Given the description of an element on the screen output the (x, y) to click on. 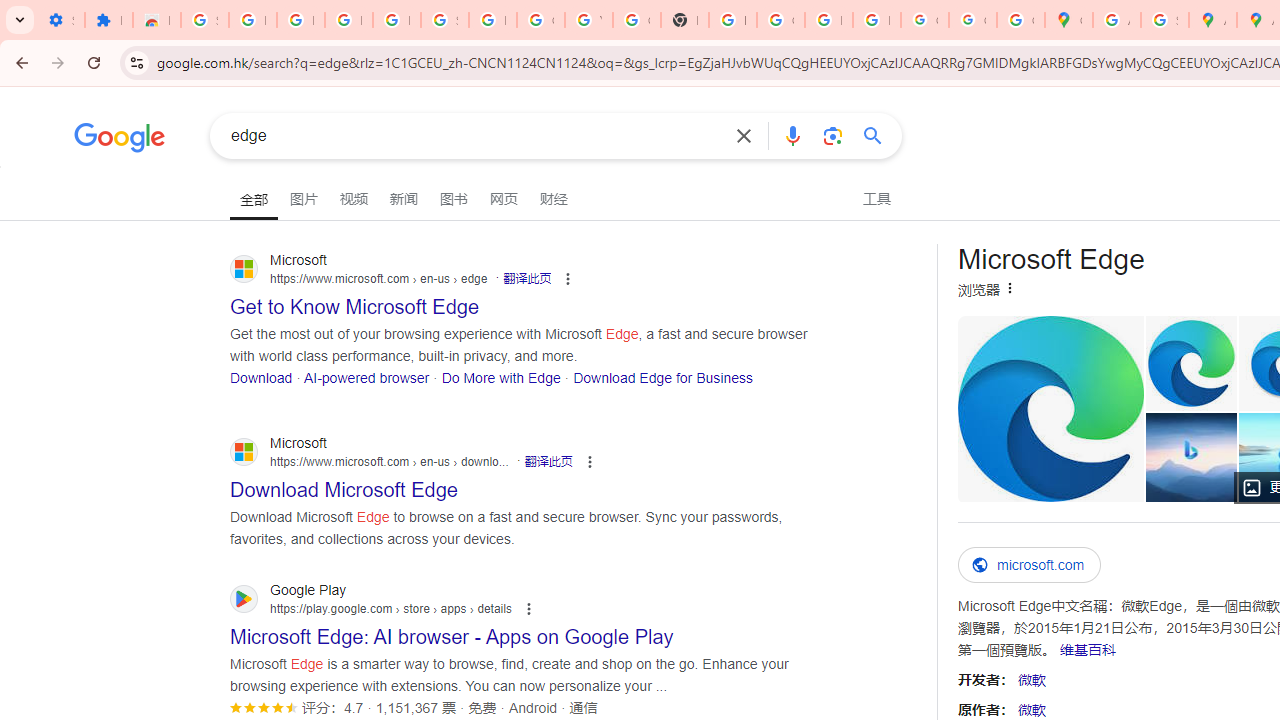
upload.wikimedia.org/wikipedia/commons/9/98/Micros... (1050, 408)
Google (120, 139)
YouTube (588, 20)
Settings - On startup (60, 20)
Extensions (108, 20)
Microsoft Edge help & learning (1191, 457)
